Given the description of an element on the screen output the (x, y) to click on. 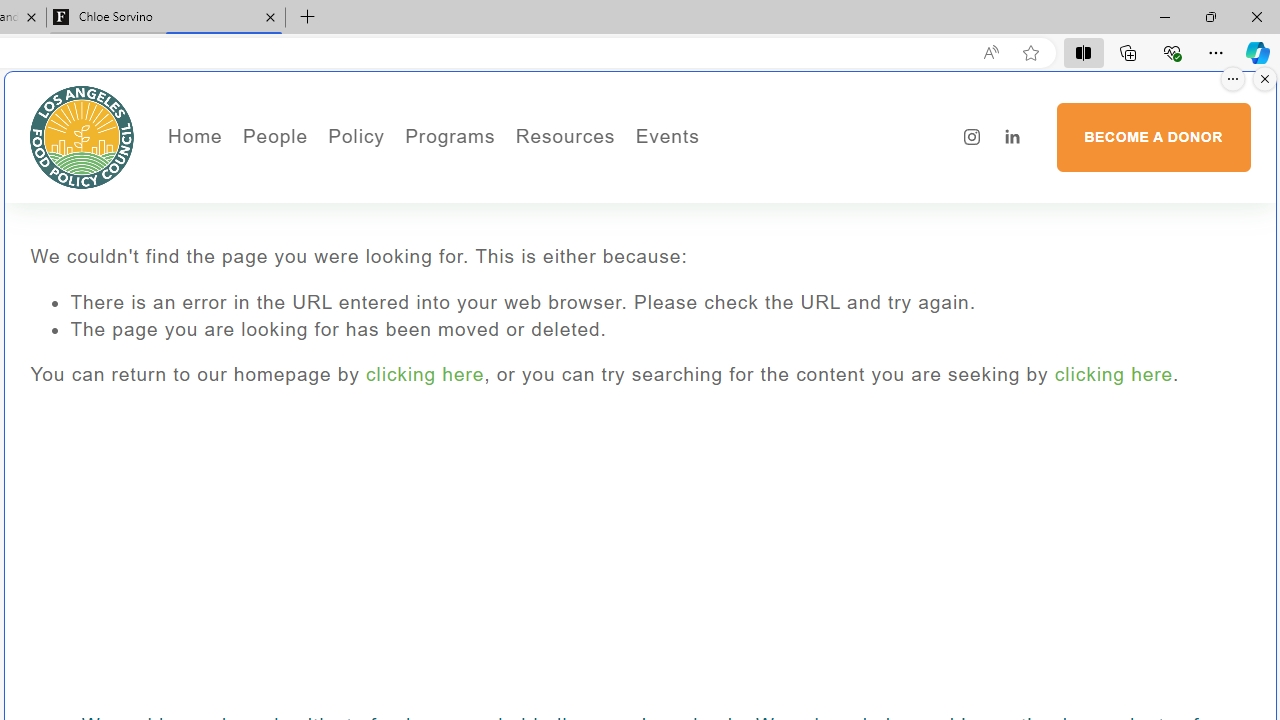
BECOME A DONOR (1153, 137)
Reports (341, 290)
Los Angeles Food Policy Council (81, 136)
Working Groups and Alliances (468, 176)
The page you are looking for has been moved or deleted. (660, 330)
Publications (468, 205)
clicking here (1113, 374)
Chloe Sorvino (166, 17)
LA Foodscapes (734, 205)
